Given the description of an element on the screen output the (x, y) to click on. 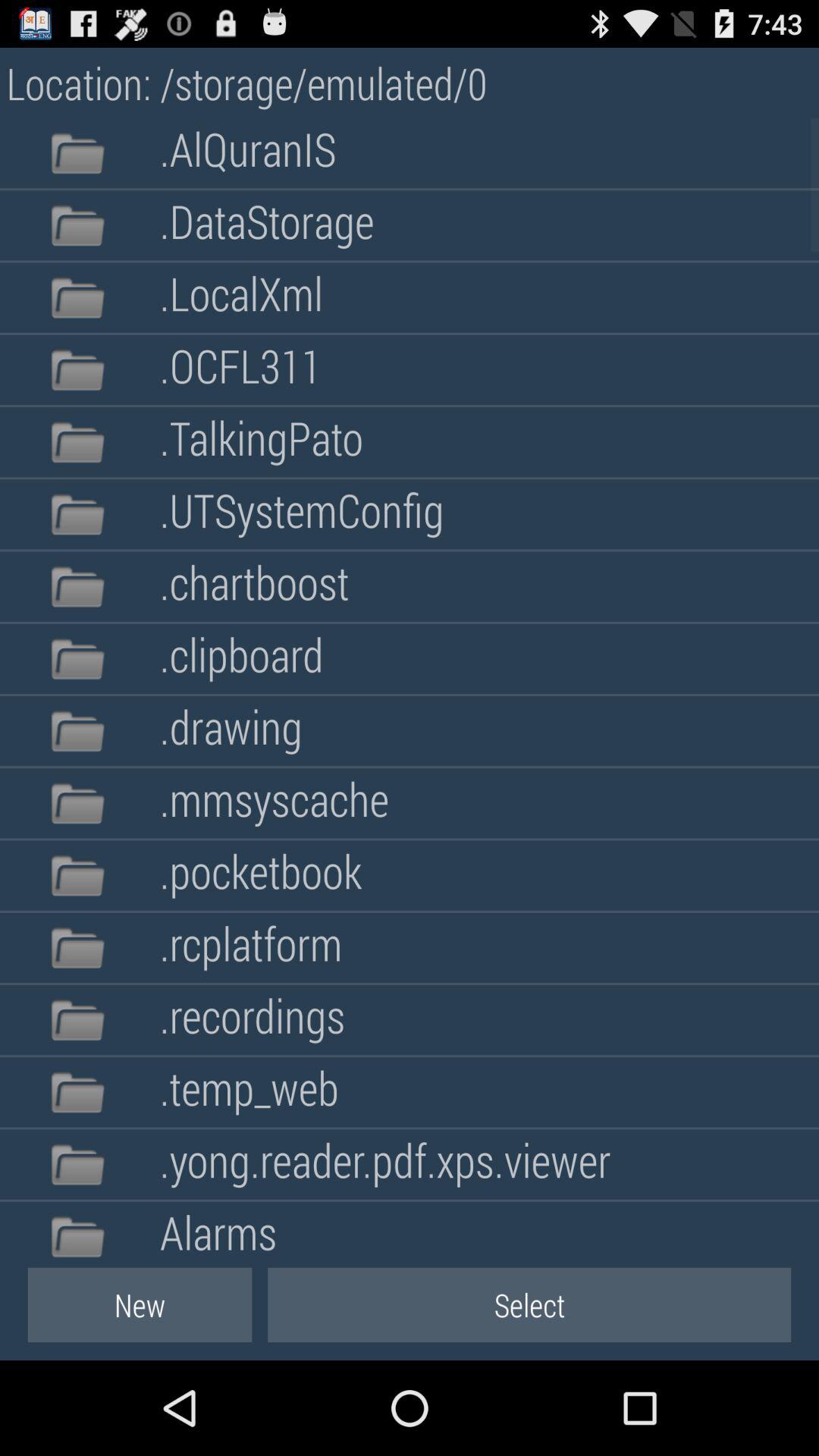
choose the item above new button (217, 1230)
